Given the description of an element on the screen output the (x, y) to click on. 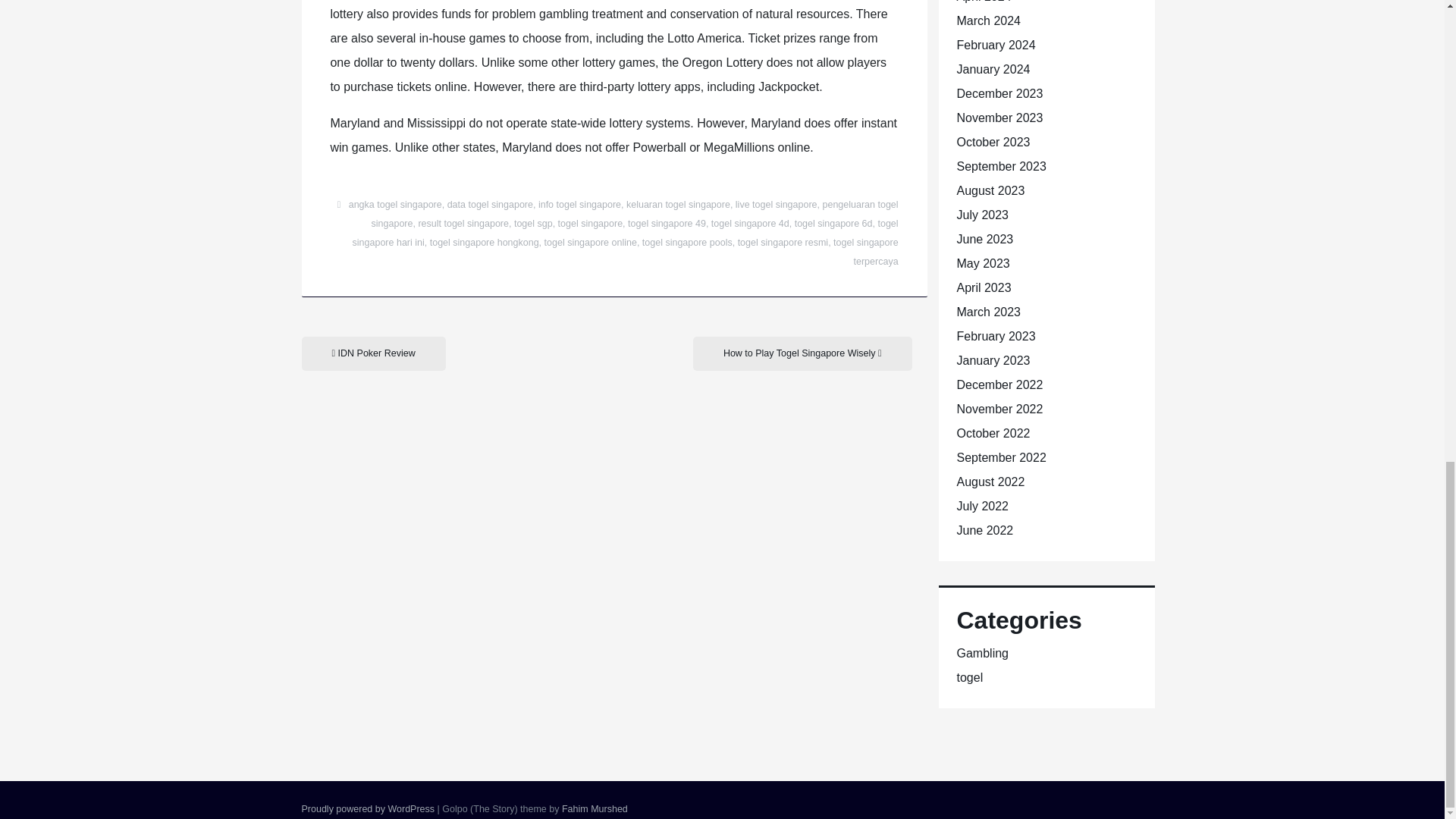
April 2024 (983, 1)
result togel singapore (462, 223)
angka togel singapore (395, 204)
How to Play Togel Singapore Wisely (802, 353)
togel singapore 6d (833, 223)
togel singapore 49 (666, 223)
togel sgp (533, 223)
togel singapore online (590, 242)
togel singapore terpercaya (865, 251)
keluaran togel singapore (678, 204)
